Given the description of an element on the screen output the (x, y) to click on. 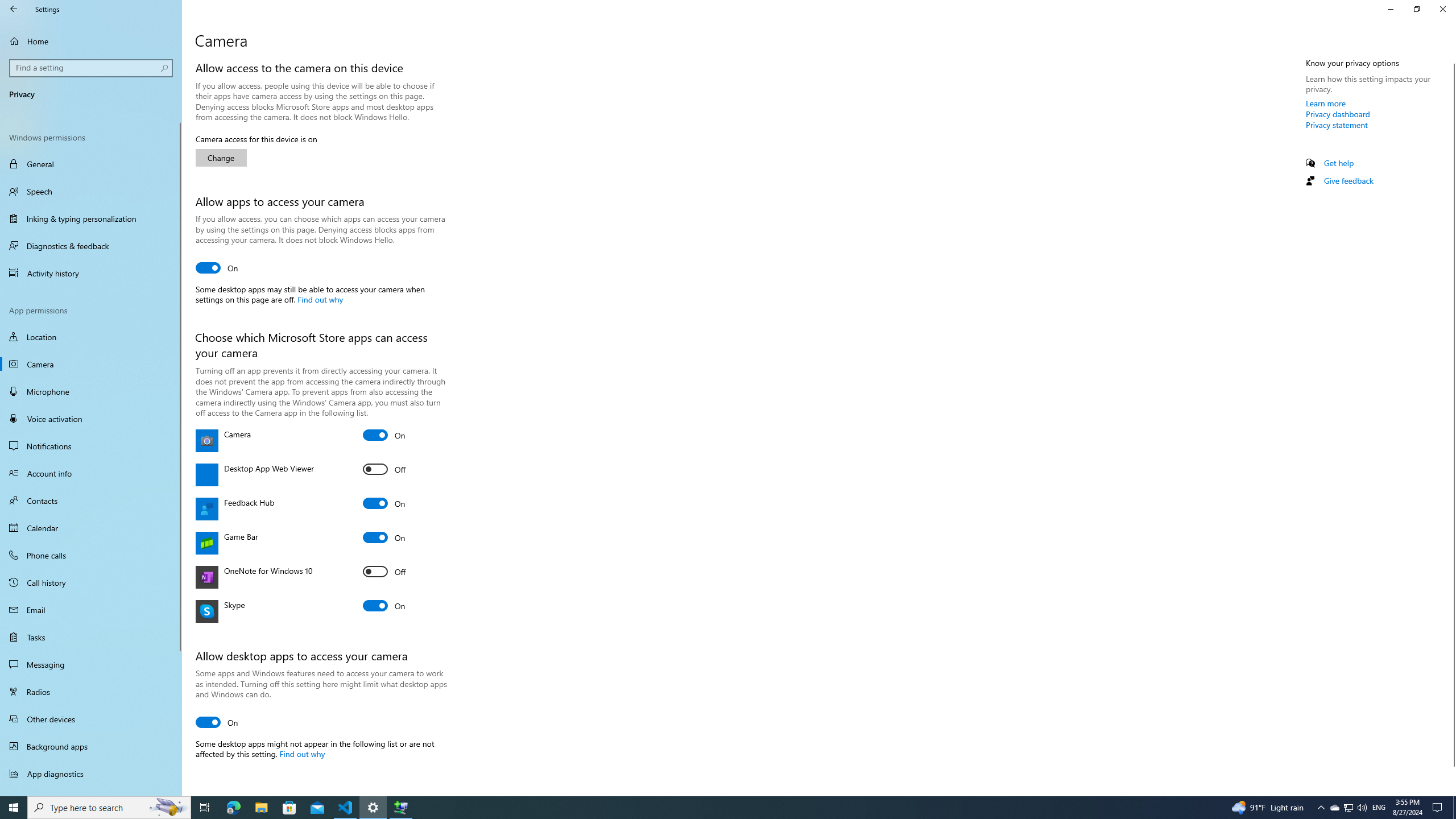
Vertical Small Increase (1451, 791)
Messaging (91, 664)
Find out why (301, 753)
General (91, 163)
Notifications (91, 445)
Vertical (1451, 425)
OneNote for Windows 10 (384, 571)
Privacy dashboard (1338, 113)
Change (221, 157)
Speech (91, 190)
